Given the description of an element on the screen output the (x, y) to click on. 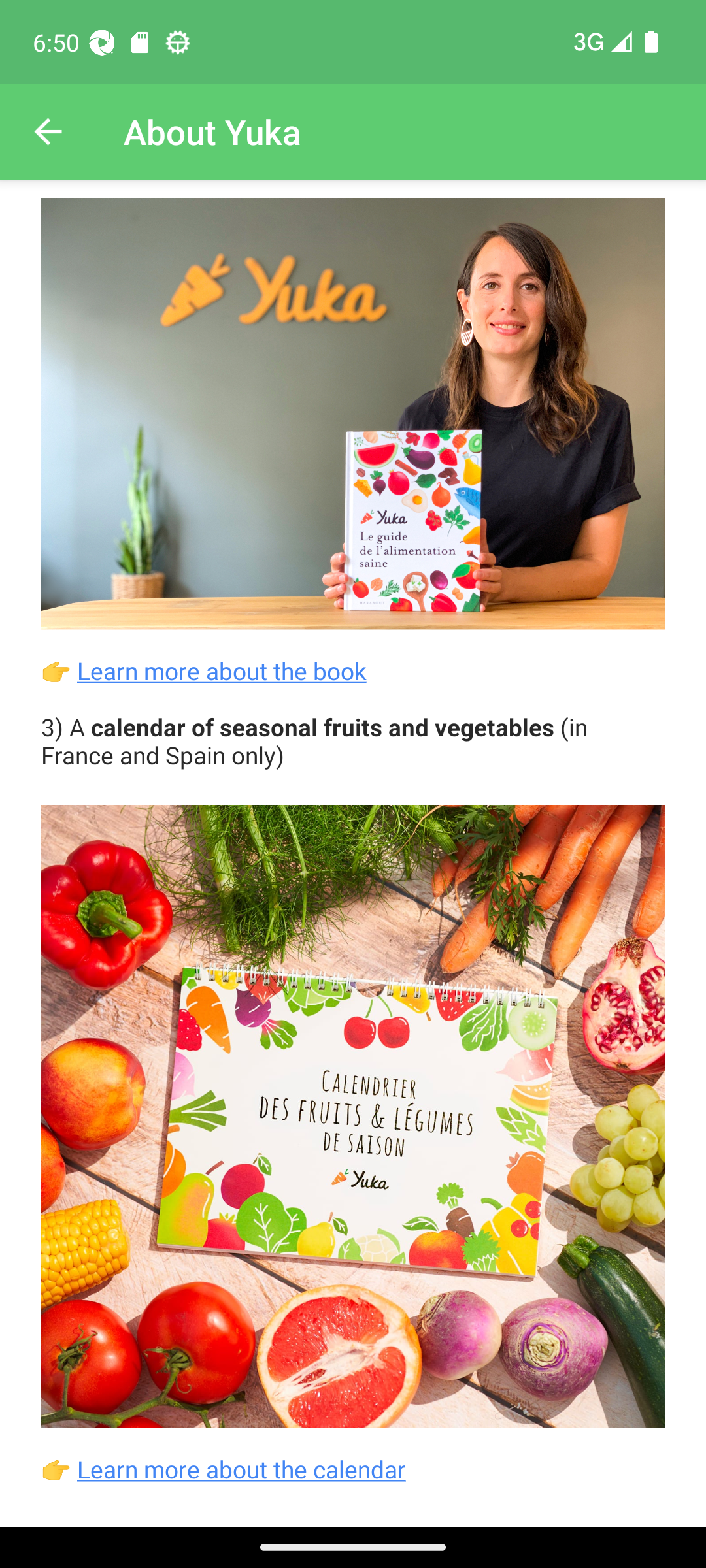
Navigate up (48, 131)
